Given the description of an element on the screen output the (x, y) to click on. 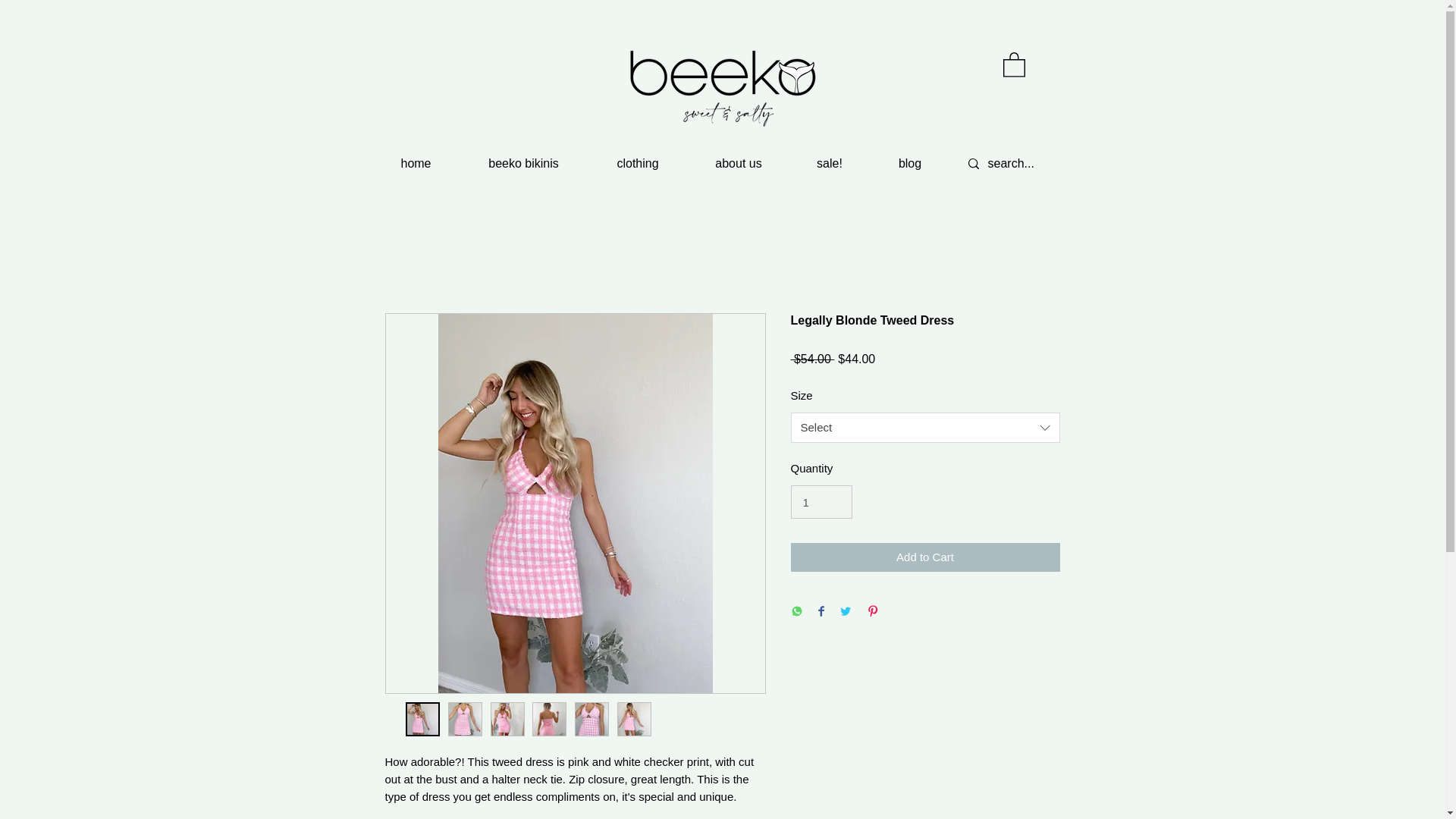
Add to Cart (924, 557)
Select (924, 427)
home (416, 163)
1 (820, 501)
sale! (829, 163)
beeko bikinis (524, 163)
about us (738, 163)
blog (909, 163)
clothing (636, 163)
